Given the description of an element on the screen output the (x, y) to click on. 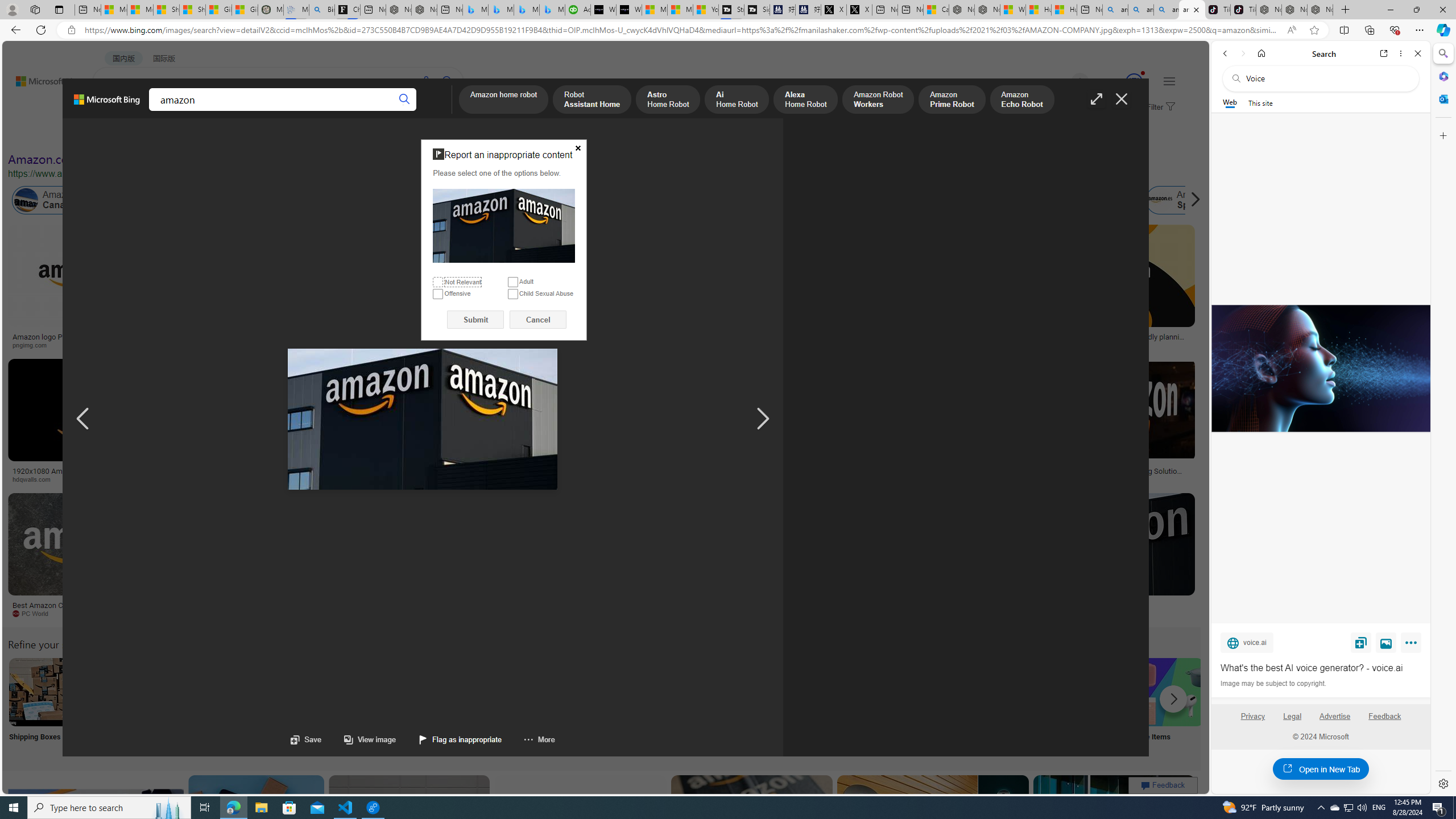
Chloe Sorvino (347, 9)
Open link in new tab (1383, 53)
Save (1361, 642)
Amazon Online Shopping Homepage (868, 691)
aiophotoz.com (347, 612)
The Verge (237, 613)
Two Reasons Why Retailers Need to Leverage Amazon (224, 340)
